Given the description of an element on the screen output the (x, y) to click on. 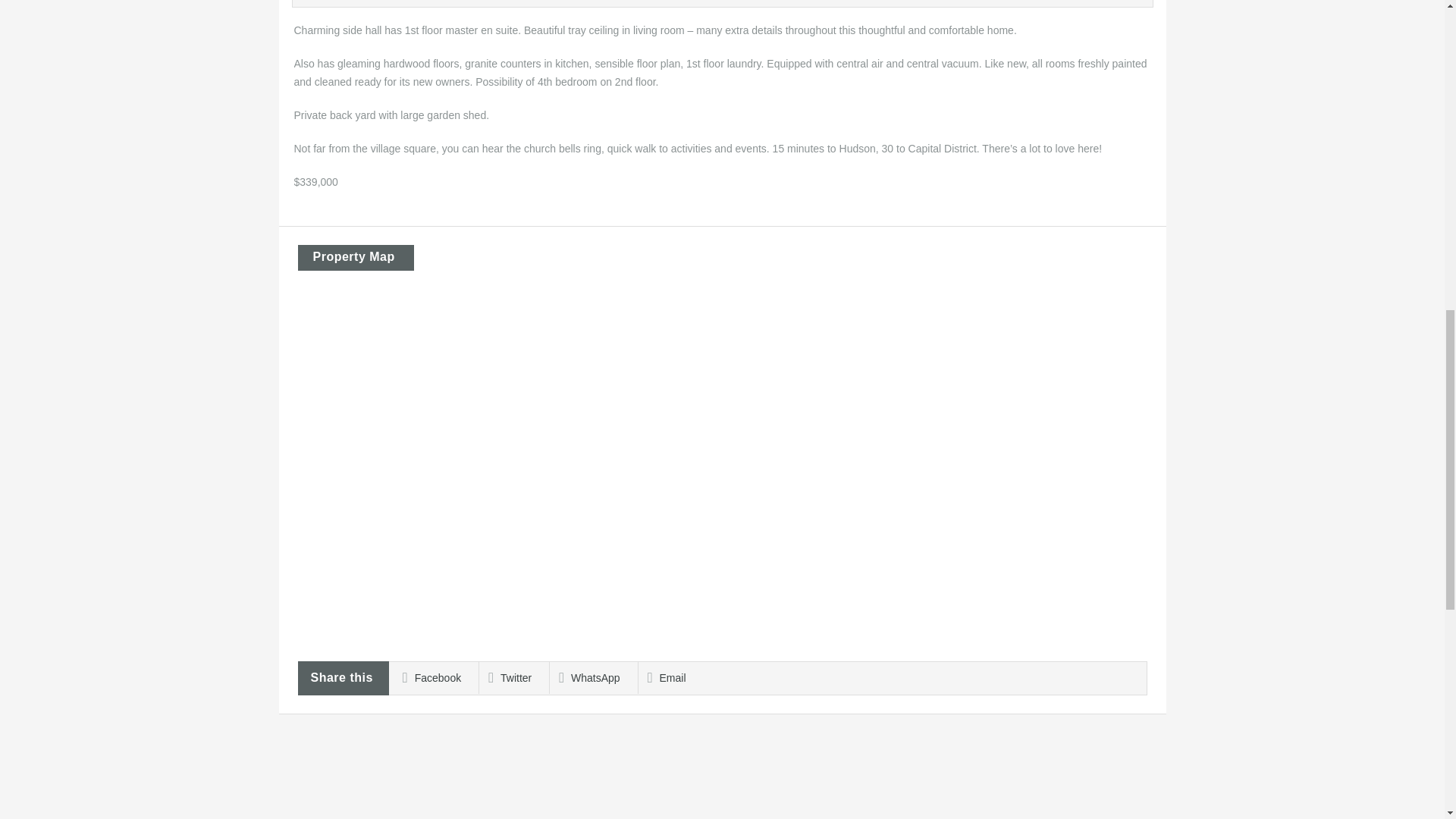
Property ID (402, 3)
Area Size (548, 3)
